Given the description of an element on the screen output the (x, y) to click on. 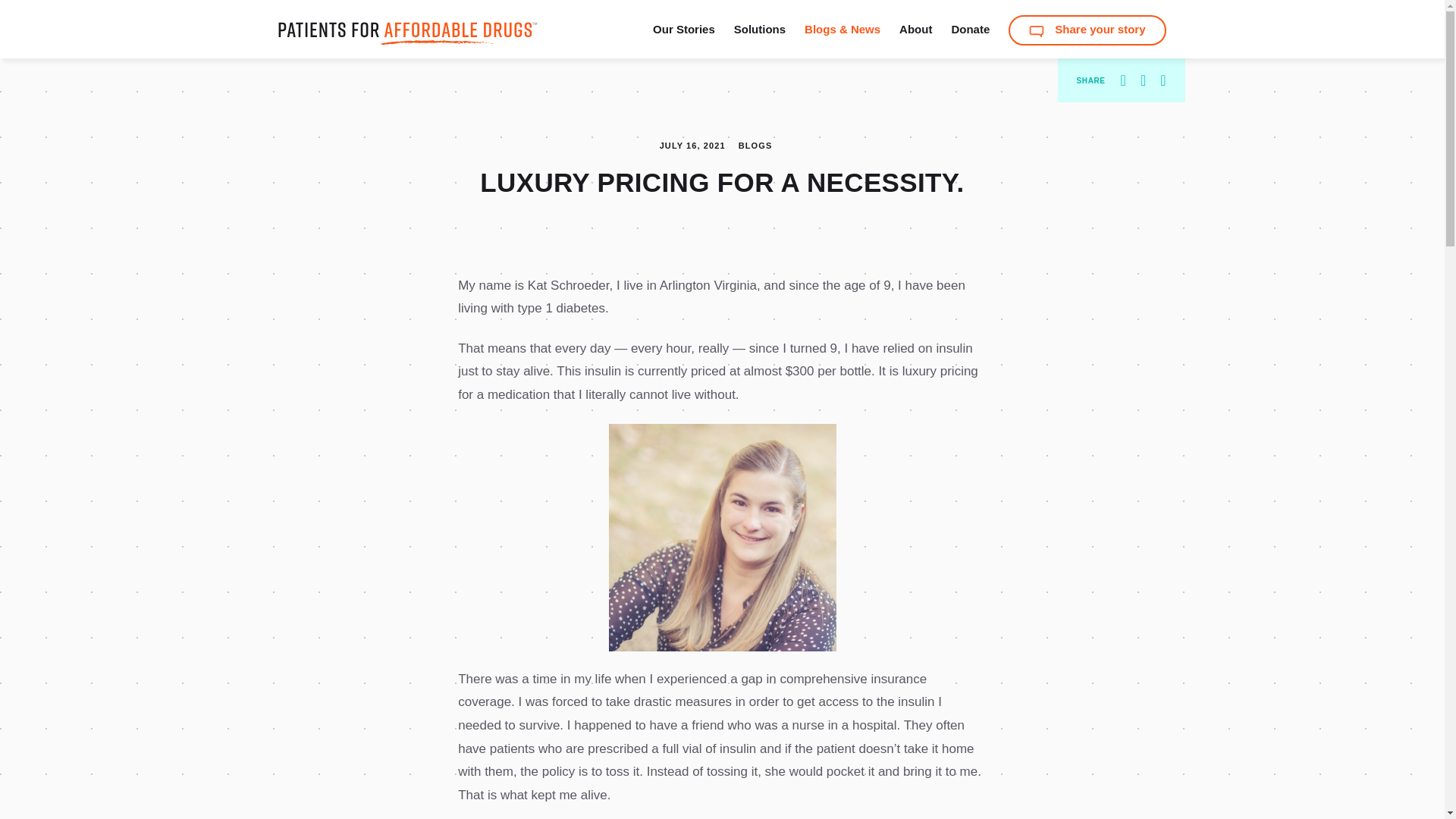
Donate (970, 29)
About (915, 29)
Share your story (1087, 30)
Our Stories (683, 29)
Solutions (759, 29)
BLOGS (755, 144)
